Given the description of an element on the screen output the (x, y) to click on. 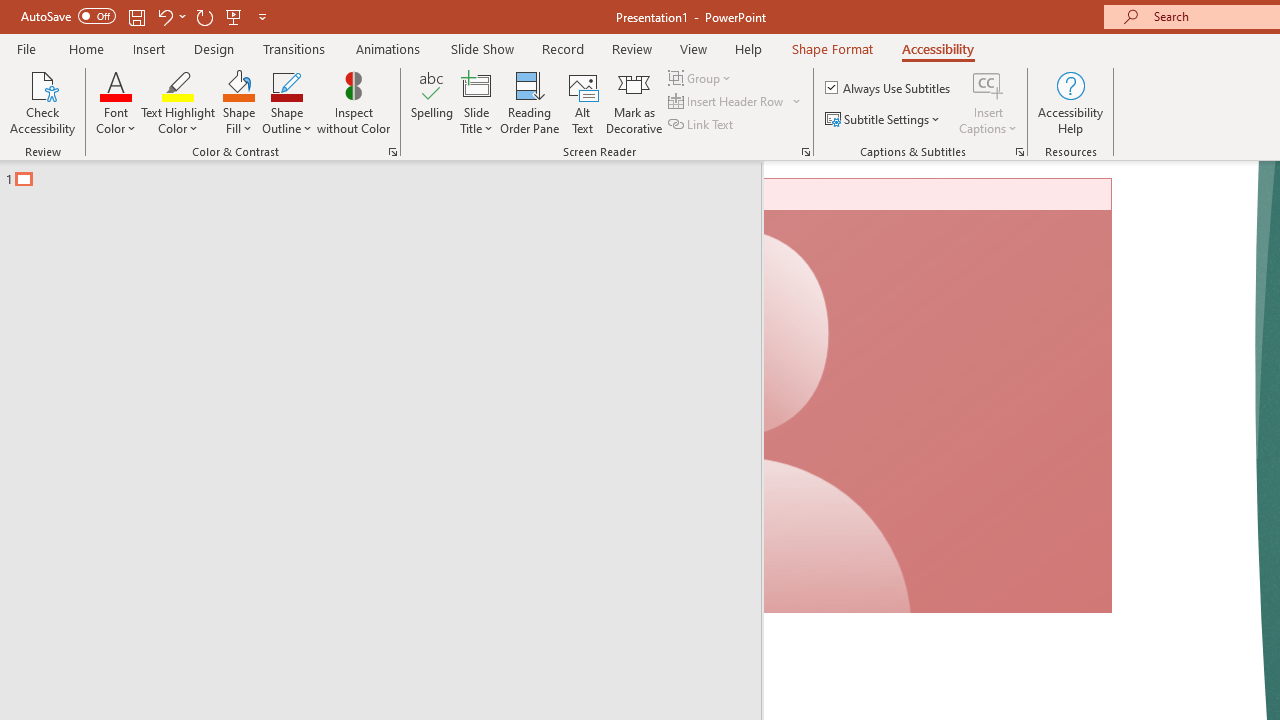
Underline (250, 180)
Save (241, 31)
References (690, 84)
Paragraph... (1115, 226)
Insert (337, 84)
Show/Hide Editing Marks (1098, 137)
Asian Layout (1000, 137)
Text Highlight Color (506, 180)
Format Painter (112, 196)
Paste (60, 136)
Line and Paragraph Spacing (927, 180)
Distributed (872, 180)
Home (127, 84)
Numbering (788, 137)
